Given the description of an element on the screen output the (x, y) to click on. 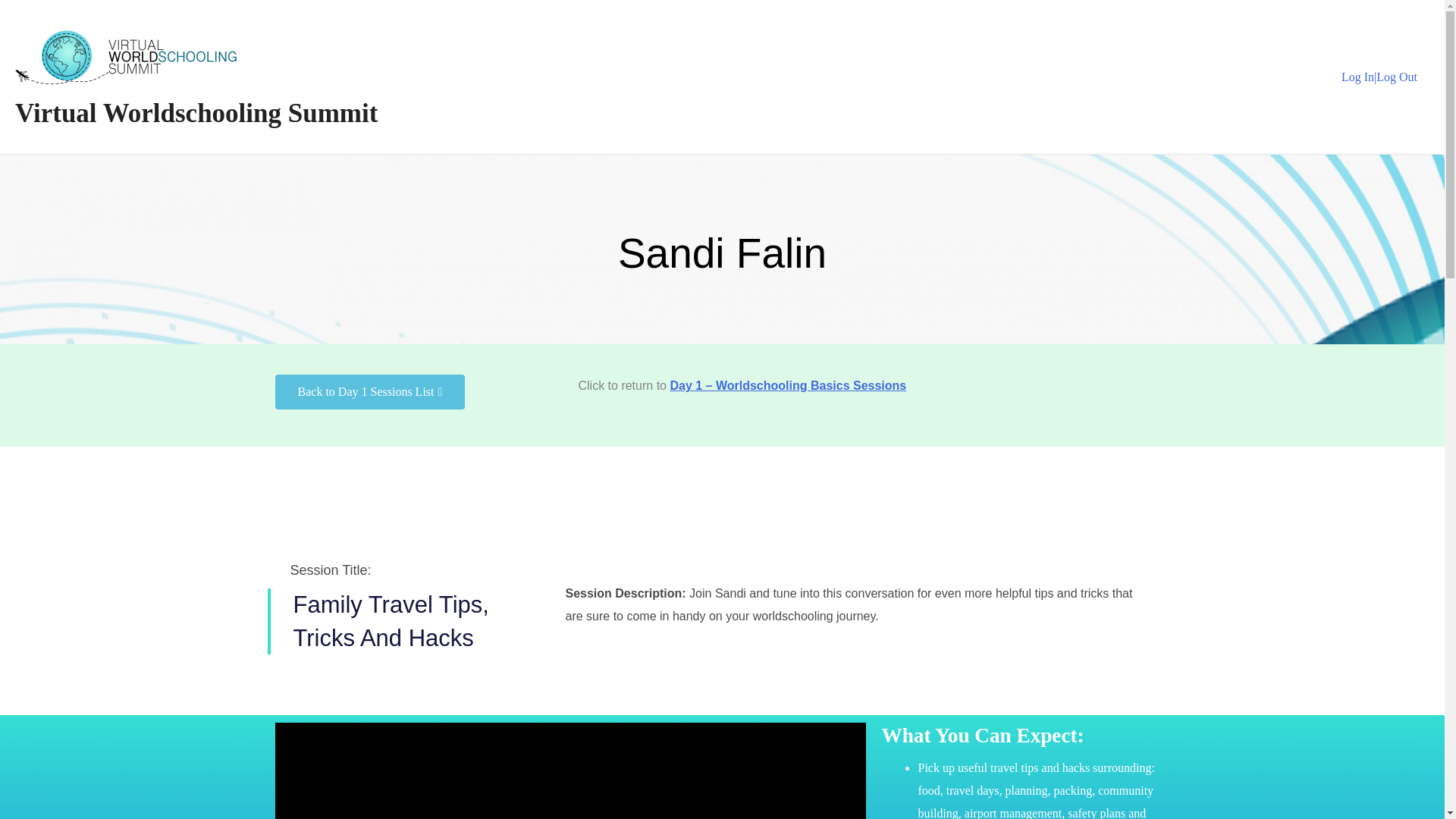
vimeo Video Player (570, 770)
Virtual Worldschooling Summit (195, 112)
